Given the description of an element on the screen output the (x, y) to click on. 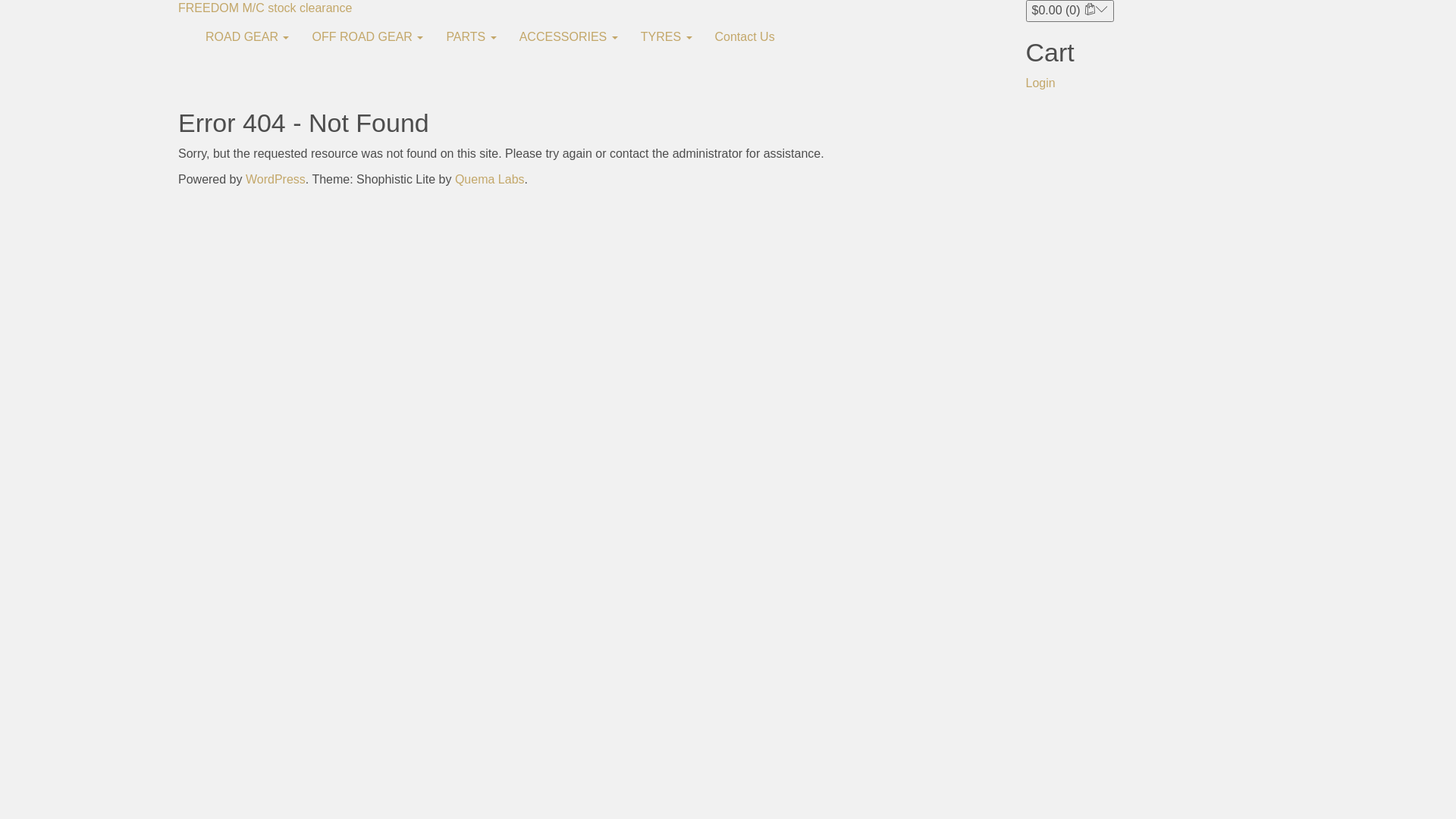
ACCESSORIES Element type: text (568, 37)
Contact Us Element type: text (744, 37)
$0.00 (0) Element type: text (1069, 10)
TYRES Element type: text (666, 37)
Quema Labs Element type: text (489, 178)
ROAD GEAR Element type: text (247, 37)
PARTS Element type: text (470, 37)
FREEDOM M/C stock clearance Element type: text (264, 7)
WordPress Element type: text (275, 178)
Login Element type: text (1039, 82)
OFF ROAD GEAR Element type: text (367, 37)
